Given the description of an element on the screen output the (x, y) to click on. 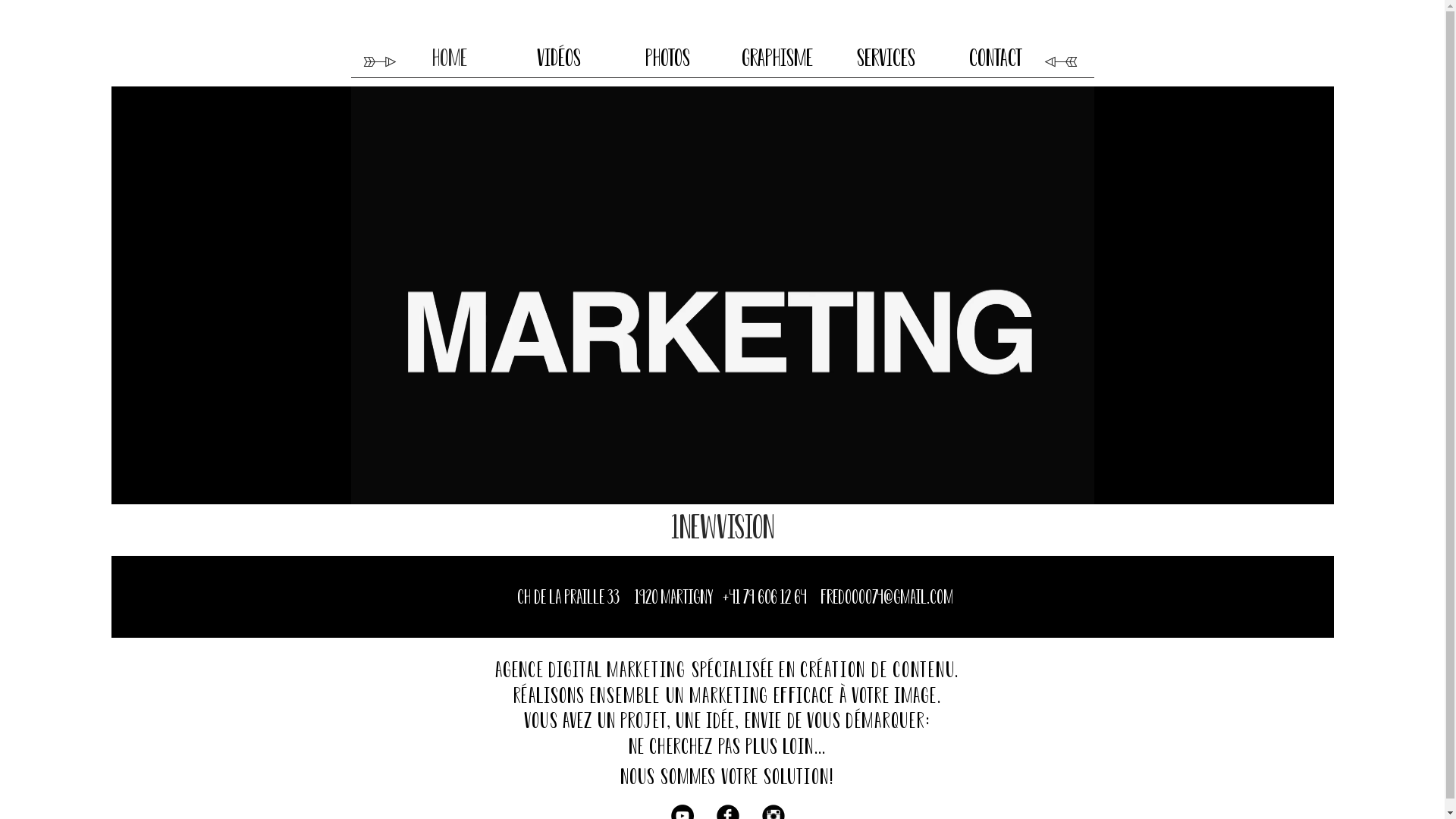
HOME Element type: text (448, 57)
PHOTOS Element type: text (666, 57)
GRAPHISME Element type: text (776, 57)
SERVICES Element type: text (885, 57)
CONTACT Element type: text (994, 57)
fredoooo74@gmail.com Element type: text (886, 598)
